Given the description of an element on the screen output the (x, y) to click on. 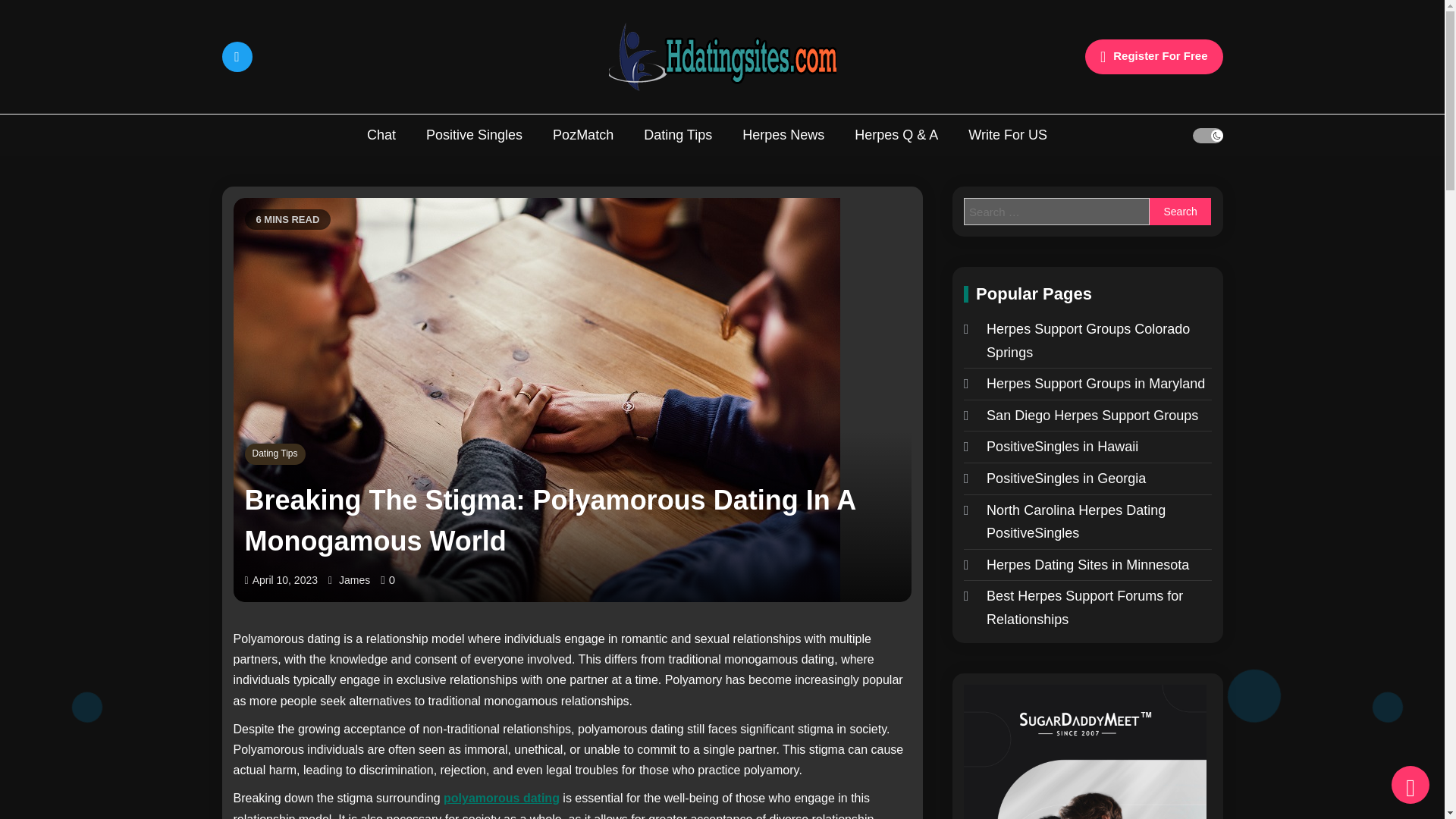
Dating Tips (677, 135)
Write For US (1007, 135)
polyamorous dating (501, 797)
San Diego Herpes Support Groups (1080, 415)
Search (1180, 211)
James (354, 579)
April 10, 2023 (284, 579)
Positive Singles (473, 135)
site mode button (1207, 134)
Herpes News (783, 135)
Herpes Support Groups in Maryland (1084, 383)
Chat (381, 135)
Dating Tips (274, 454)
Hdatingsites (539, 107)
PositiveSingles in Hawaii (1050, 446)
